Given the description of an element on the screen output the (x, y) to click on. 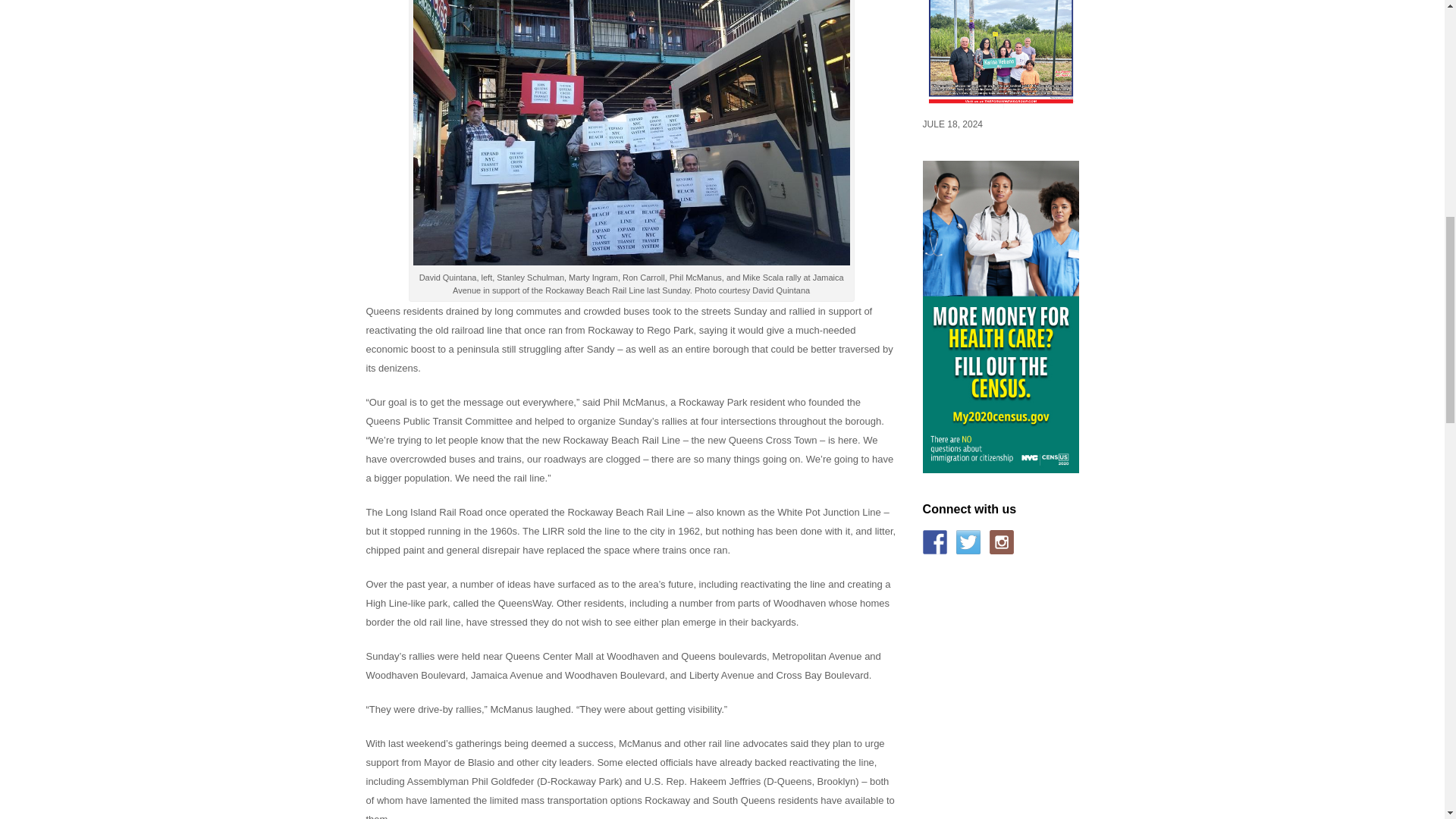
THIS WEEK (1000, 104)
